Given the description of an element on the screen output the (x, y) to click on. 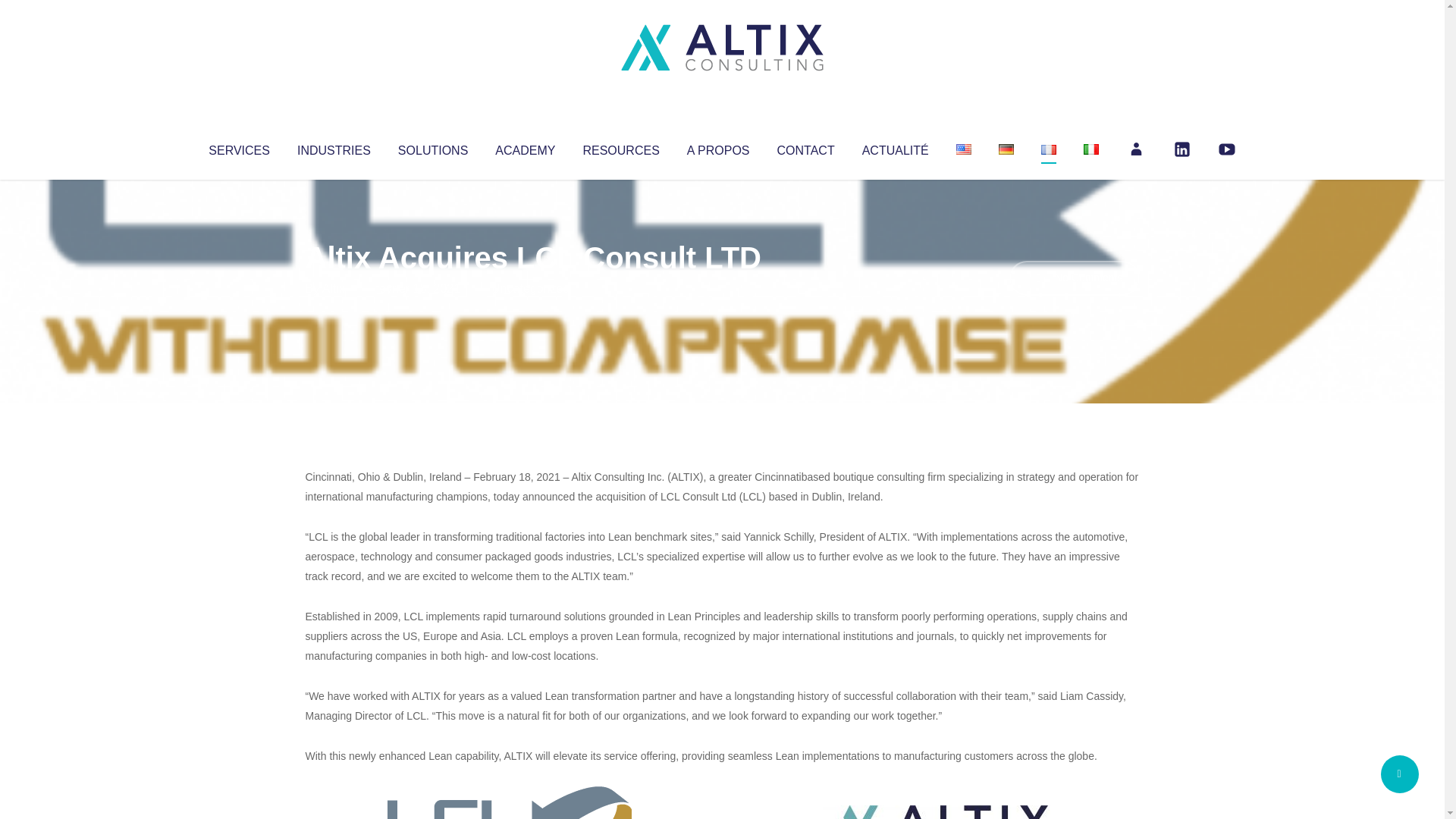
Uncategorized (530, 287)
A PROPOS (718, 146)
SOLUTIONS (432, 146)
Articles par Altix (333, 287)
RESOURCES (620, 146)
No Comments (1073, 278)
SERVICES (238, 146)
Altix (333, 287)
INDUSTRIES (334, 146)
ACADEMY (524, 146)
